Given the description of an element on the screen output the (x, y) to click on. 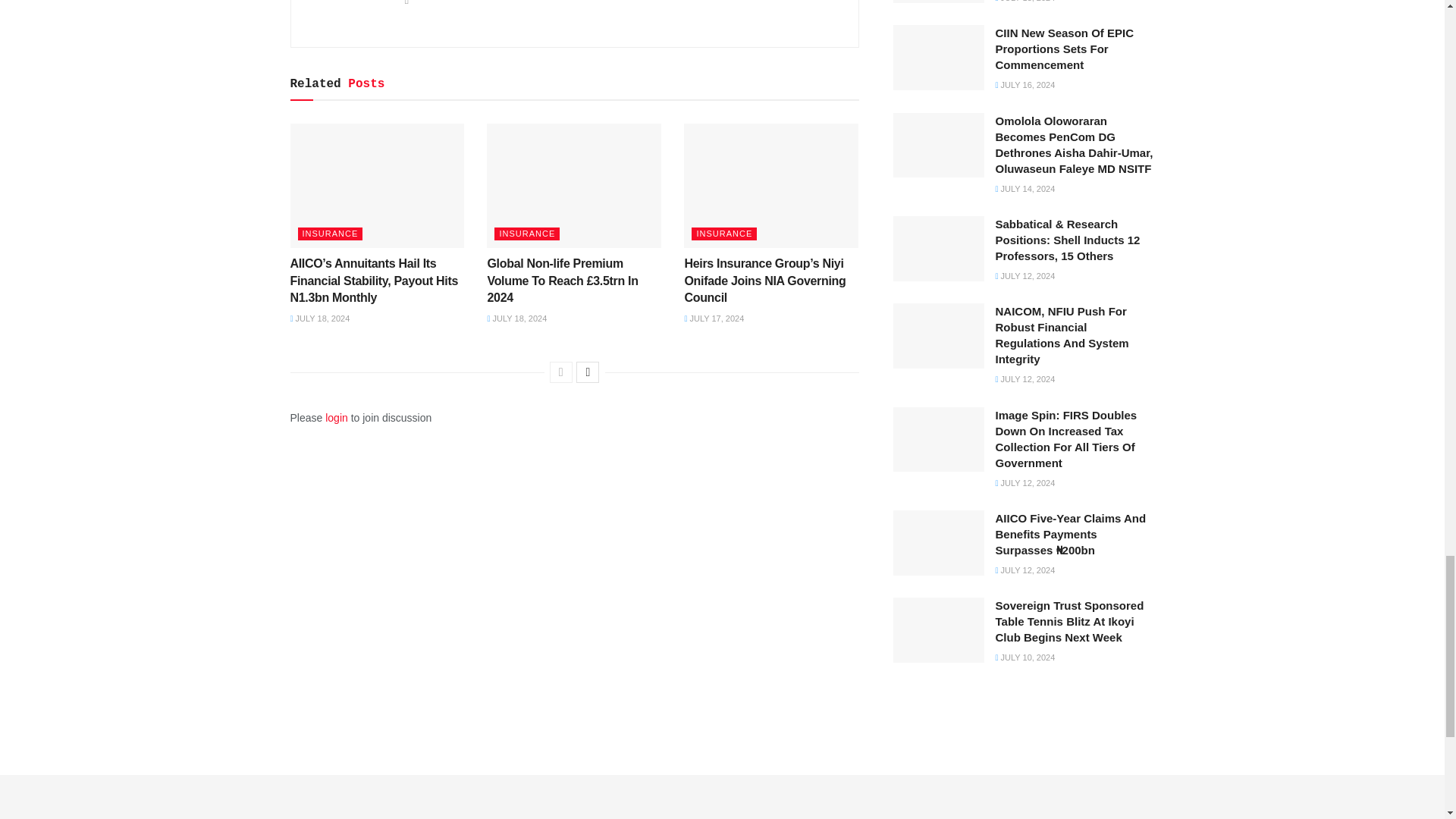
Next (587, 372)
Previous (561, 372)
